Given the description of an element on the screen output the (x, y) to click on. 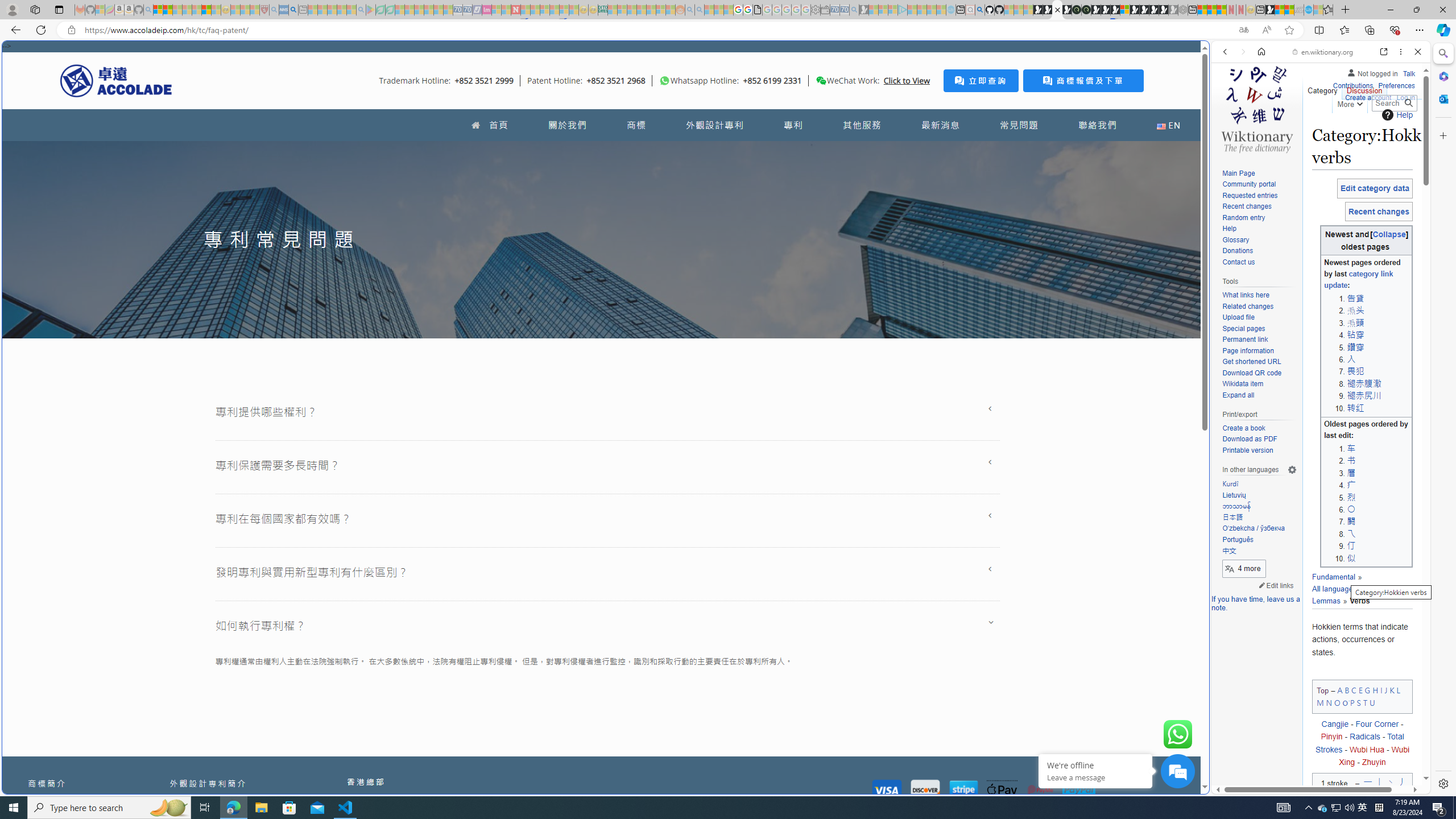
C (1353, 689)
Pinyin (1331, 737)
Hokkien (1379, 588)
